Given the description of an element on the screen output the (x, y) to click on. 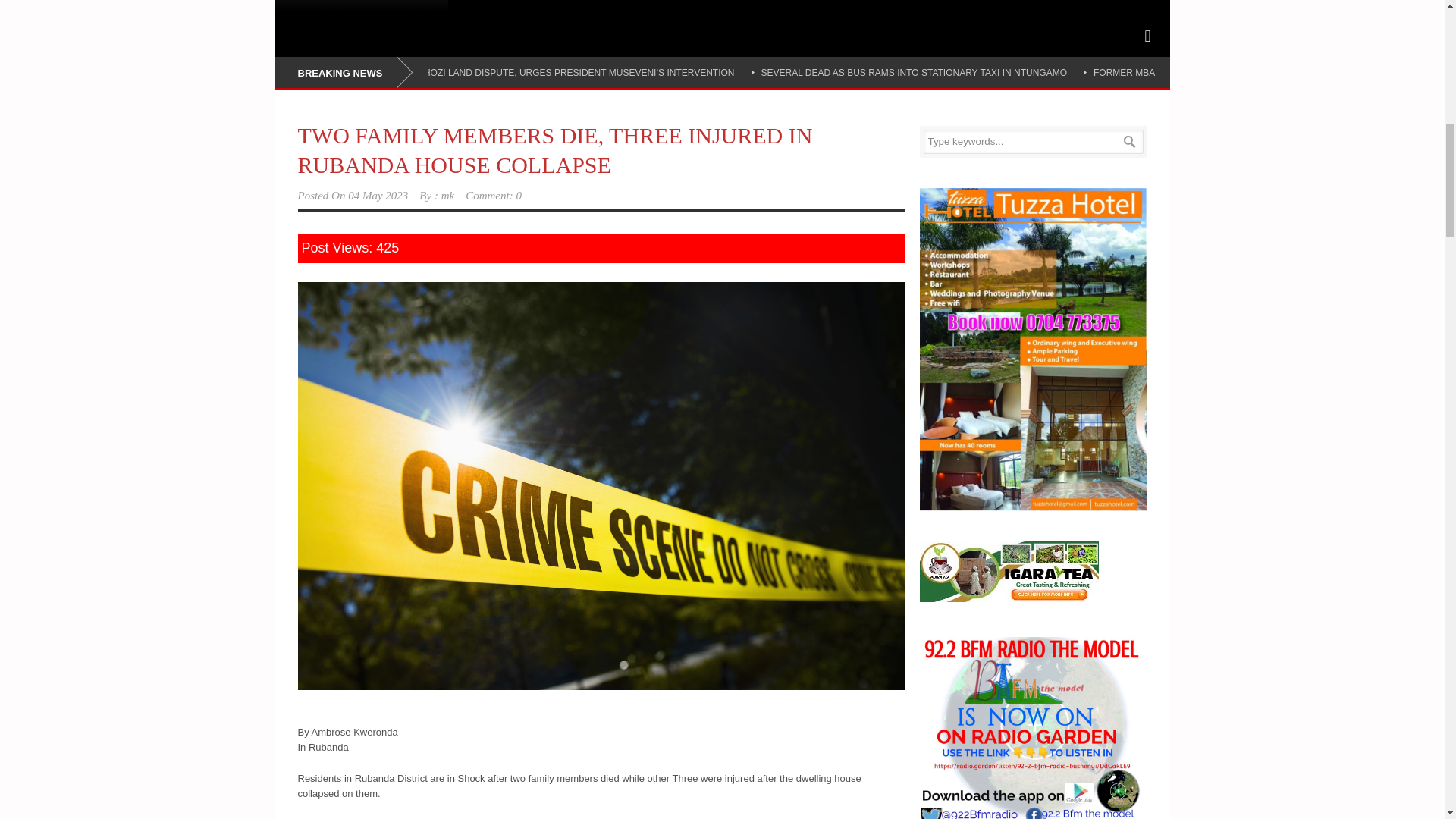
AGRICULTURE (395, 6)
Type keywords... (1032, 141)
FORMER MBARARA CITY TOWN CLERK, TIBIHIIKA DIES IN ACCIDENT (1243, 72)
Comment: 0 (493, 195)
SPORTS (309, 6)
04 May 2023 (377, 195)
mk (447, 195)
Posts by mk (447, 195)
SEVERAL DEAD AS BUS RAMS INTO STATIONARY TAXI IN NTUNGAMO (914, 72)
